Given the description of an element on the screen output the (x, y) to click on. 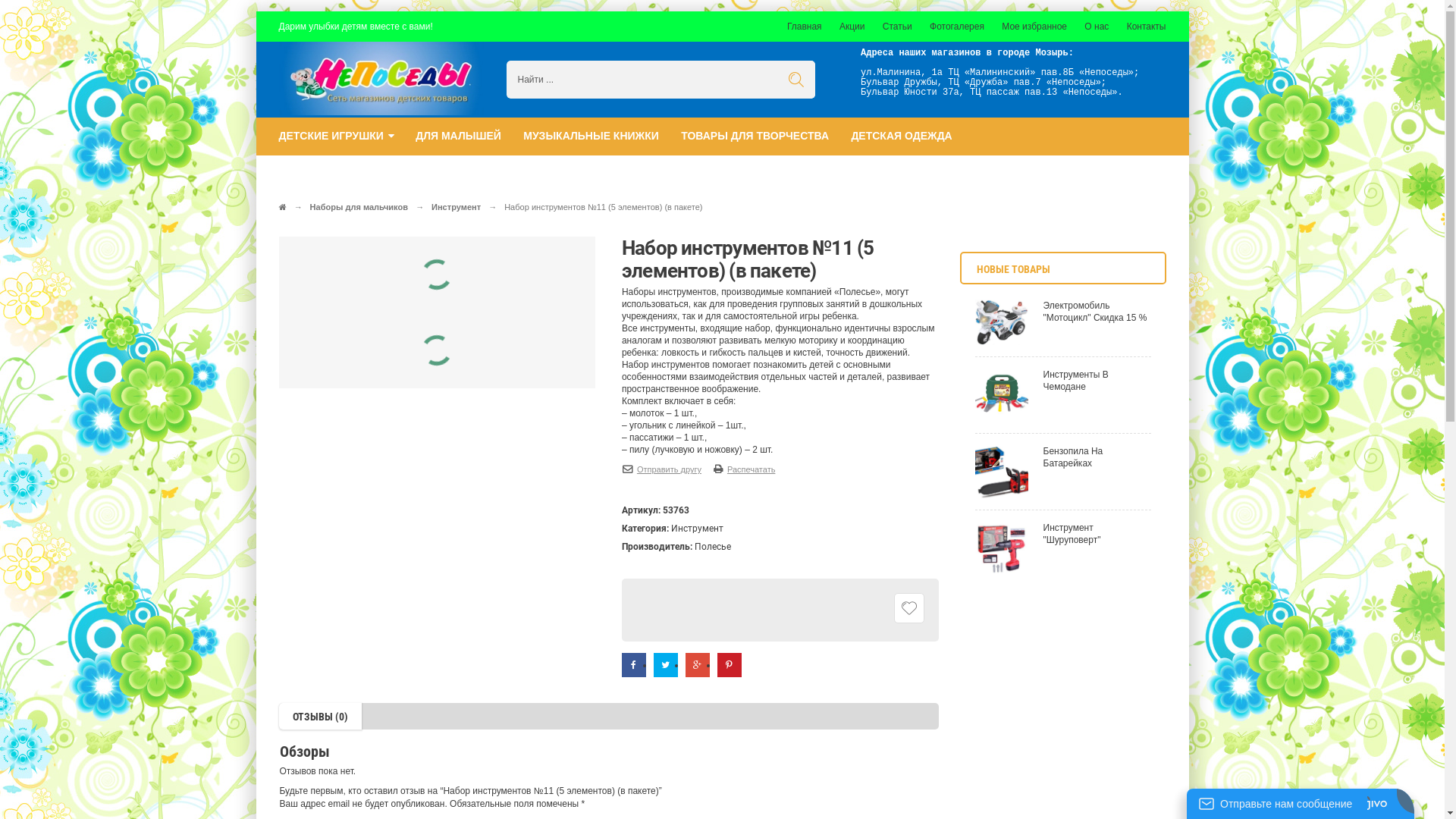
53763-2 Element type: hover (397, 351)
53763-1 Element type: hover (319, 350)
Search Element type: text (796, 79)
